Given the description of an element on the screen output the (x, y) to click on. 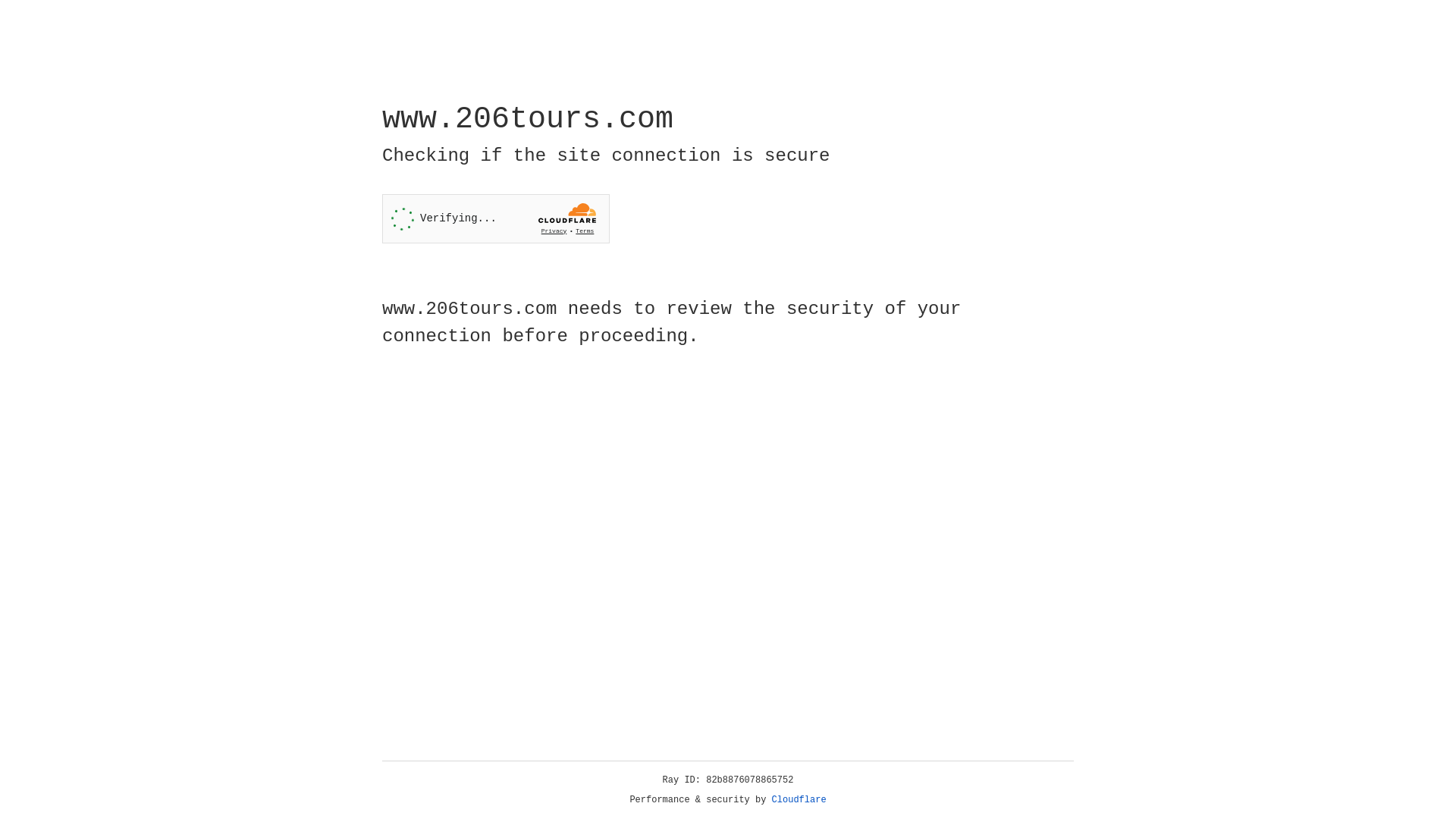
Widget containing a Cloudflare security challenge Element type: hover (495, 218)
Cloudflare Element type: text (798, 799)
